Given the description of an element on the screen output the (x, y) to click on. 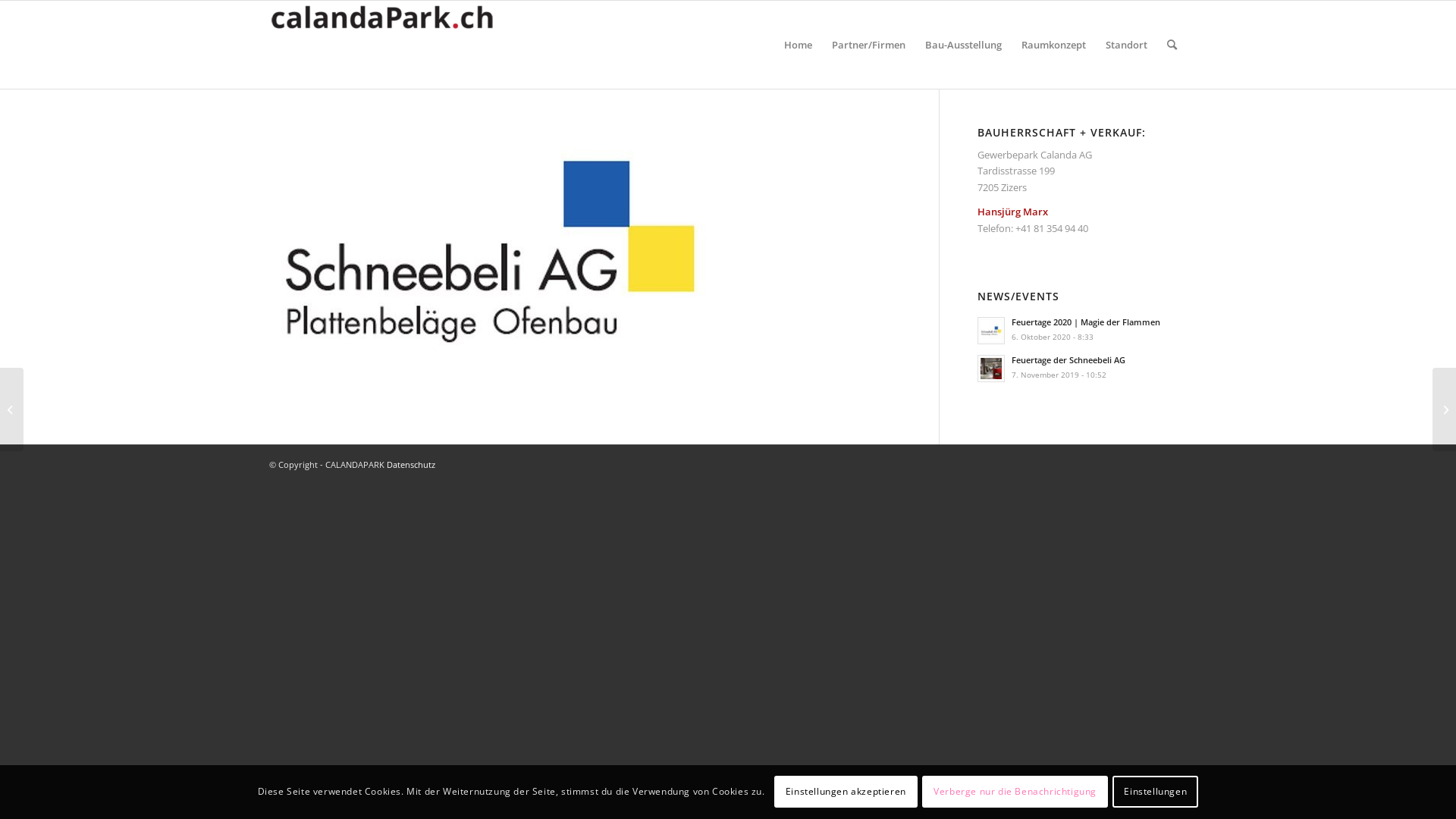
Einstellungen akzeptieren Element type: text (845, 791)
Partner/Firmen Element type: text (868, 44)
Home Element type: text (798, 44)
Bau-Ausstellung Element type: text (963, 44)
Read: Feuertage der Schneebeli AG Element type: hover (990, 368)
Raumkonzept Element type: text (1053, 44)
Feuertage 2020 | Magie der Flammen Element type: text (1085, 321)
Einstellungen Element type: text (1155, 791)
Feuertage der Schneebeli AG Element type: text (1068, 359)
Datenschutz Element type: text (410, 464)
Standort Element type: text (1126, 44)
Read: Feuertage 2020 | Magie der Flammen Element type: hover (990, 330)
Verberge nur die Benachrichtigung Element type: text (1014, 791)
